Given the description of an element on the screen output the (x, y) to click on. 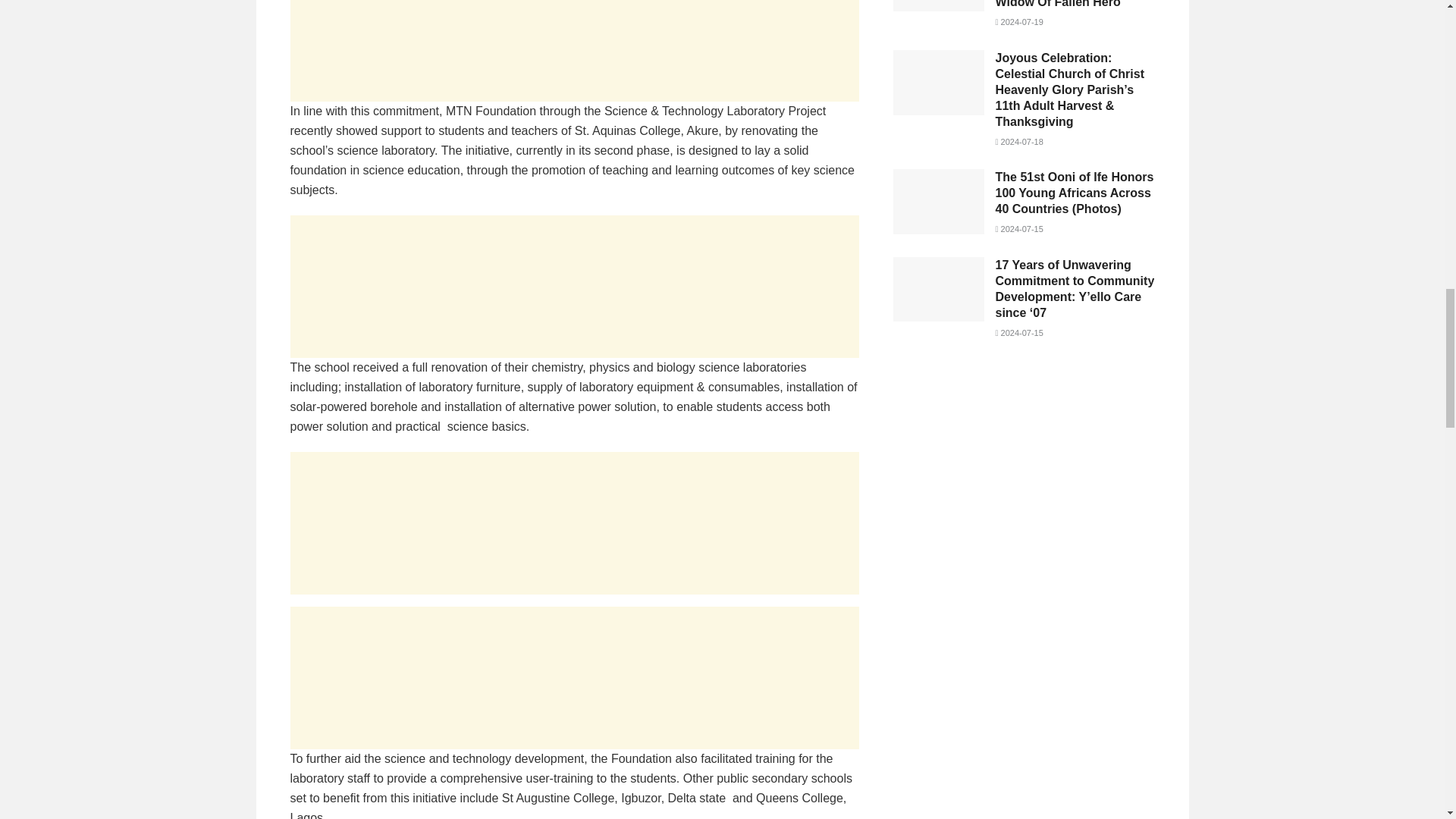
Advertisement (574, 677)
Advertisement (574, 523)
Advertisement (574, 50)
Advertisement (1023, 480)
Advertisement (574, 286)
